Given the description of an element on the screen output the (x, y) to click on. 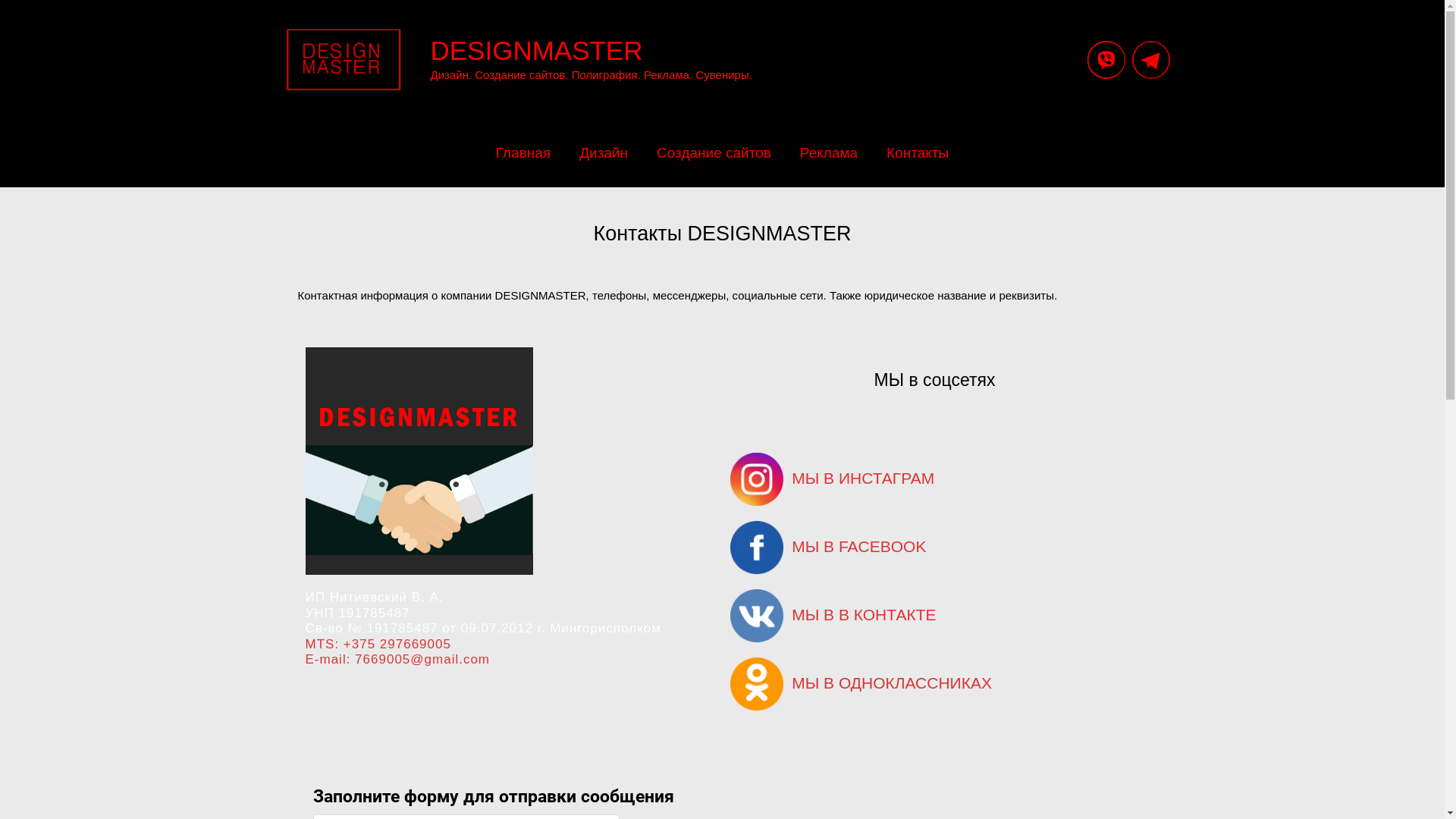
  Element type: text (760, 477)
DESIGNMASTER Element type: text (536, 50)
MTS: +375 297669005 Element type: text (377, 644)
E-mail: 7669005@gmail.com Element type: text (396, 659)
